Given the description of an element on the screen output the (x, y) to click on. 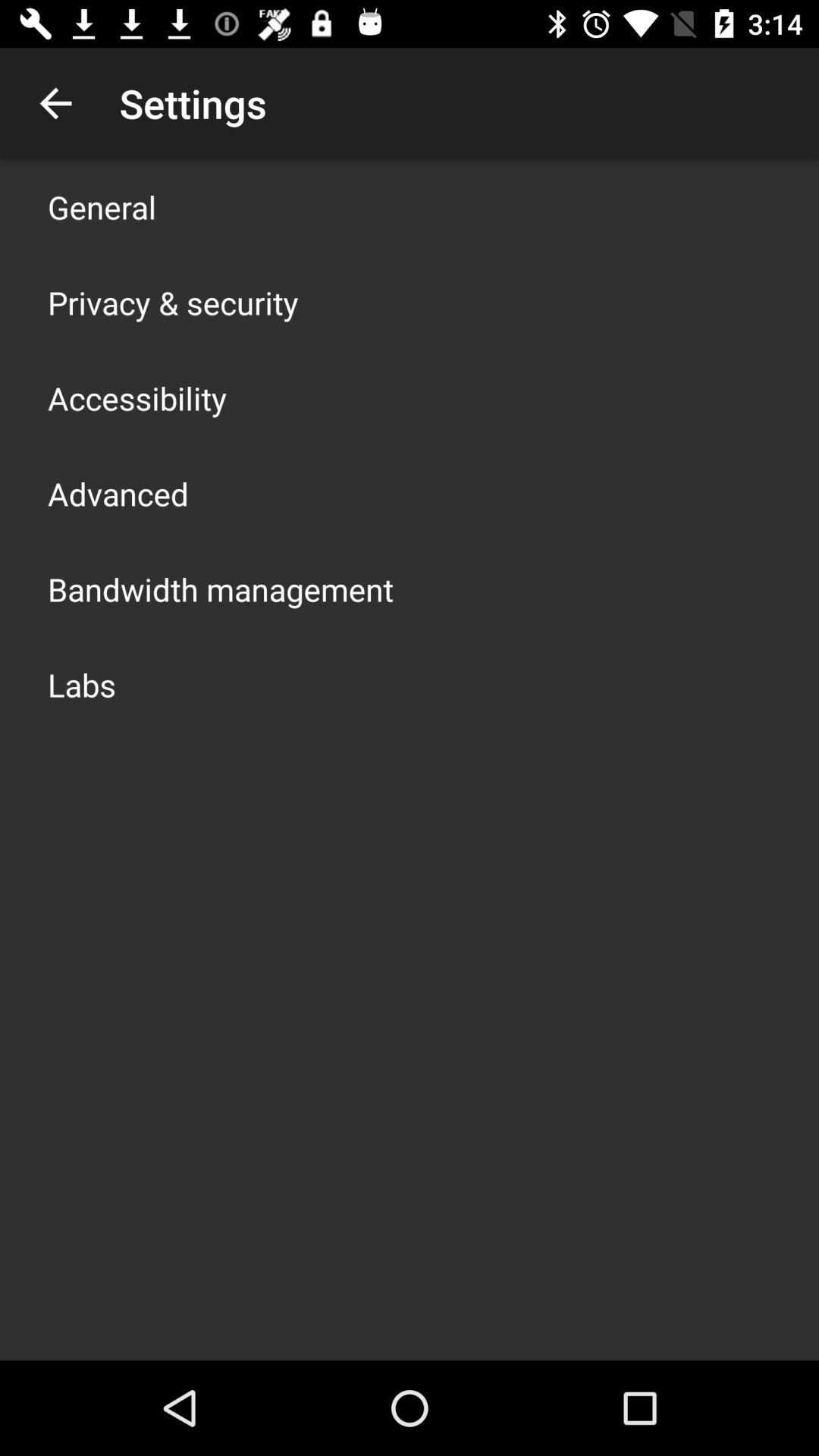
tap bandwidth management icon (220, 588)
